Given the description of an element on the screen output the (x, y) to click on. 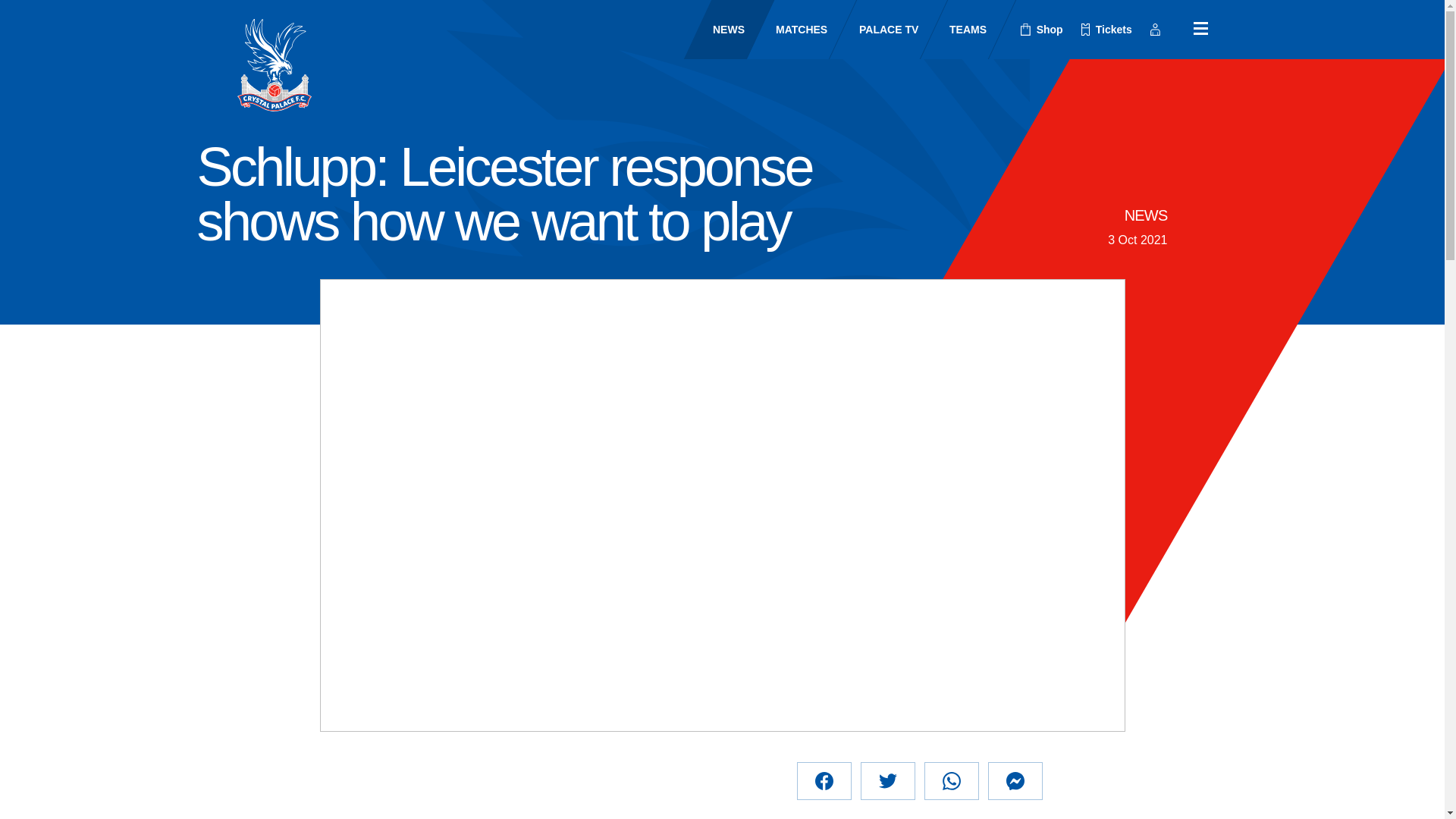
TEAMS (954, 29)
Crystal palace (273, 64)
Shop (1041, 29)
PALACE TV (874, 29)
MATCHES (787, 29)
Tickets (1106, 29)
NEWS (1145, 215)
NEWS (715, 29)
